Given the description of an element on the screen output the (x, y) to click on. 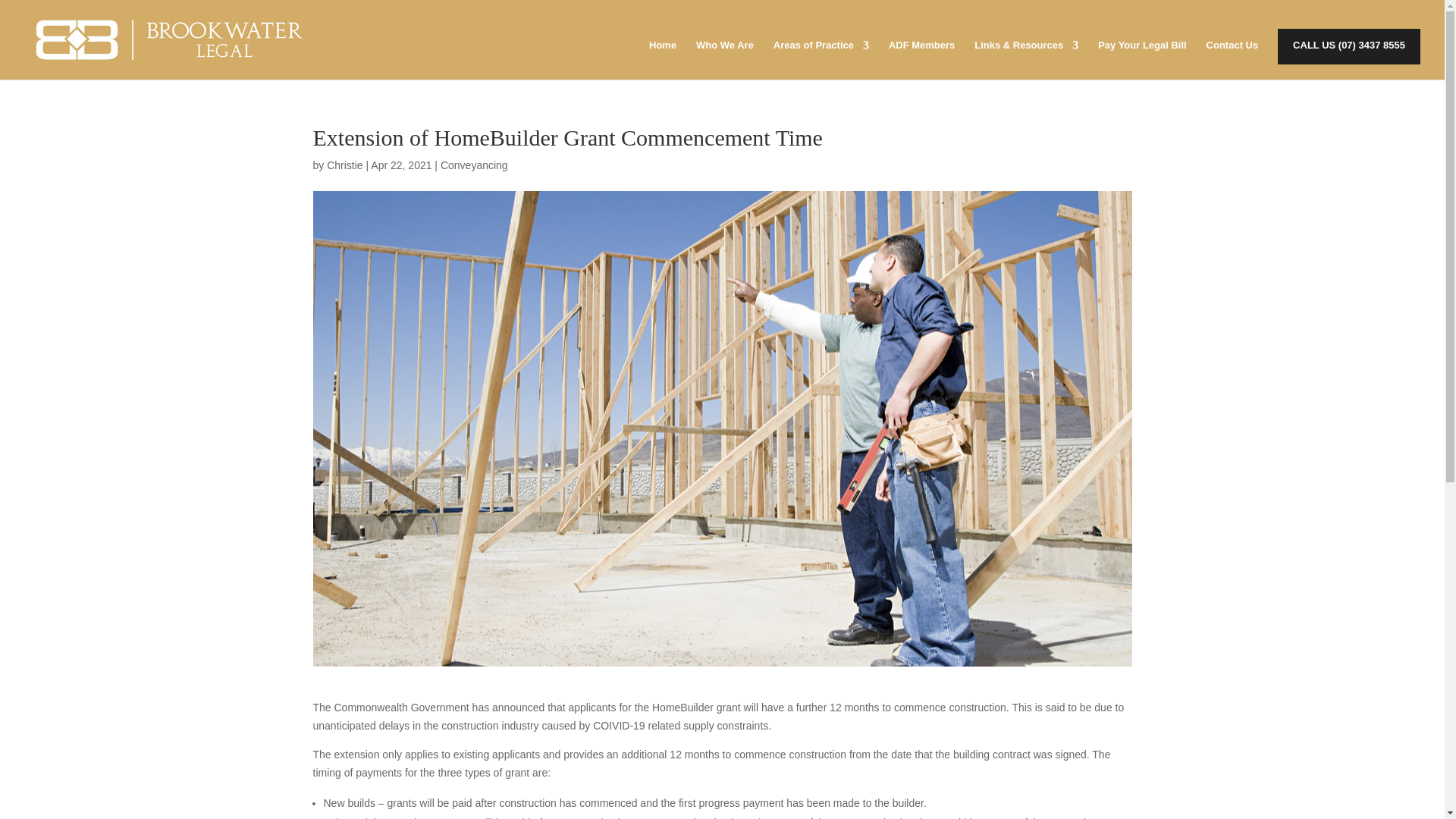
Areas of Practice (821, 52)
Contact Us (1233, 52)
Christie (344, 164)
Home (663, 52)
ADF Members (921, 52)
Conveyancing (474, 164)
Posts by Christie (344, 164)
Pay Your Legal Bill (1141, 52)
Who We Are (724, 52)
